Given the description of an element on the screen output the (x, y) to click on. 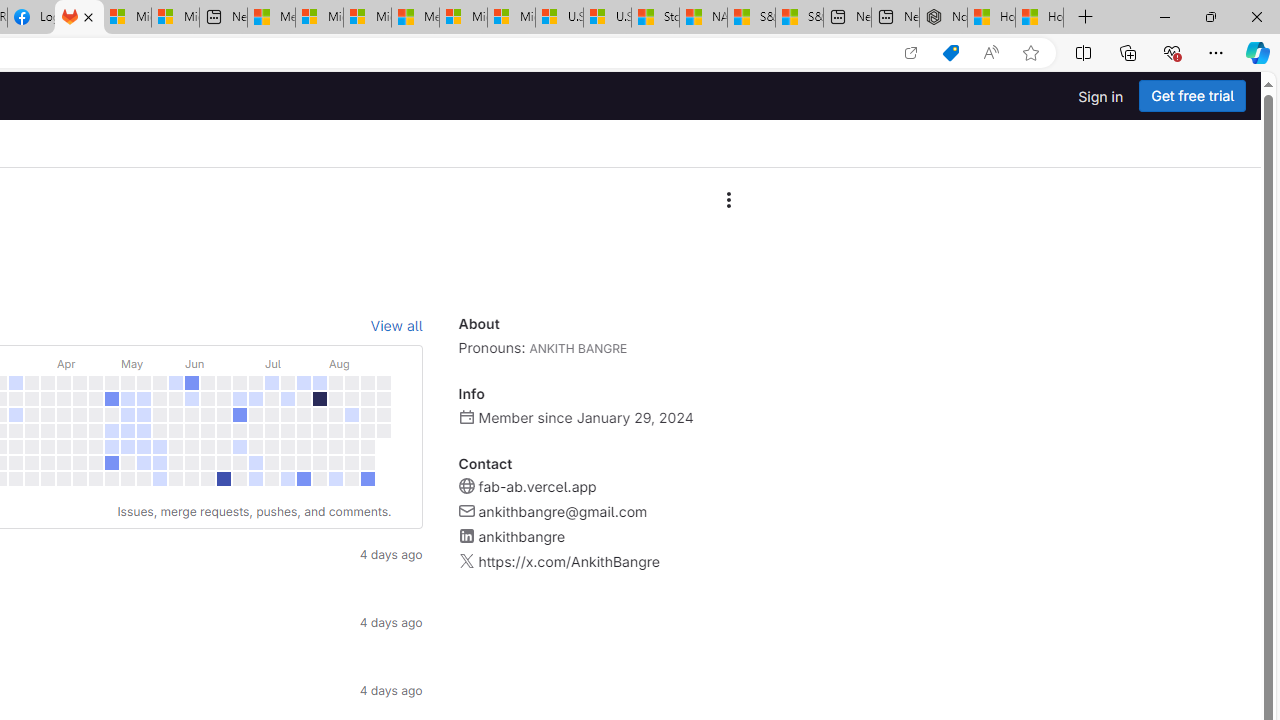
Shopping in Microsoft Edge (950, 53)
